Given the description of an element on the screen output the (x, y) to click on. 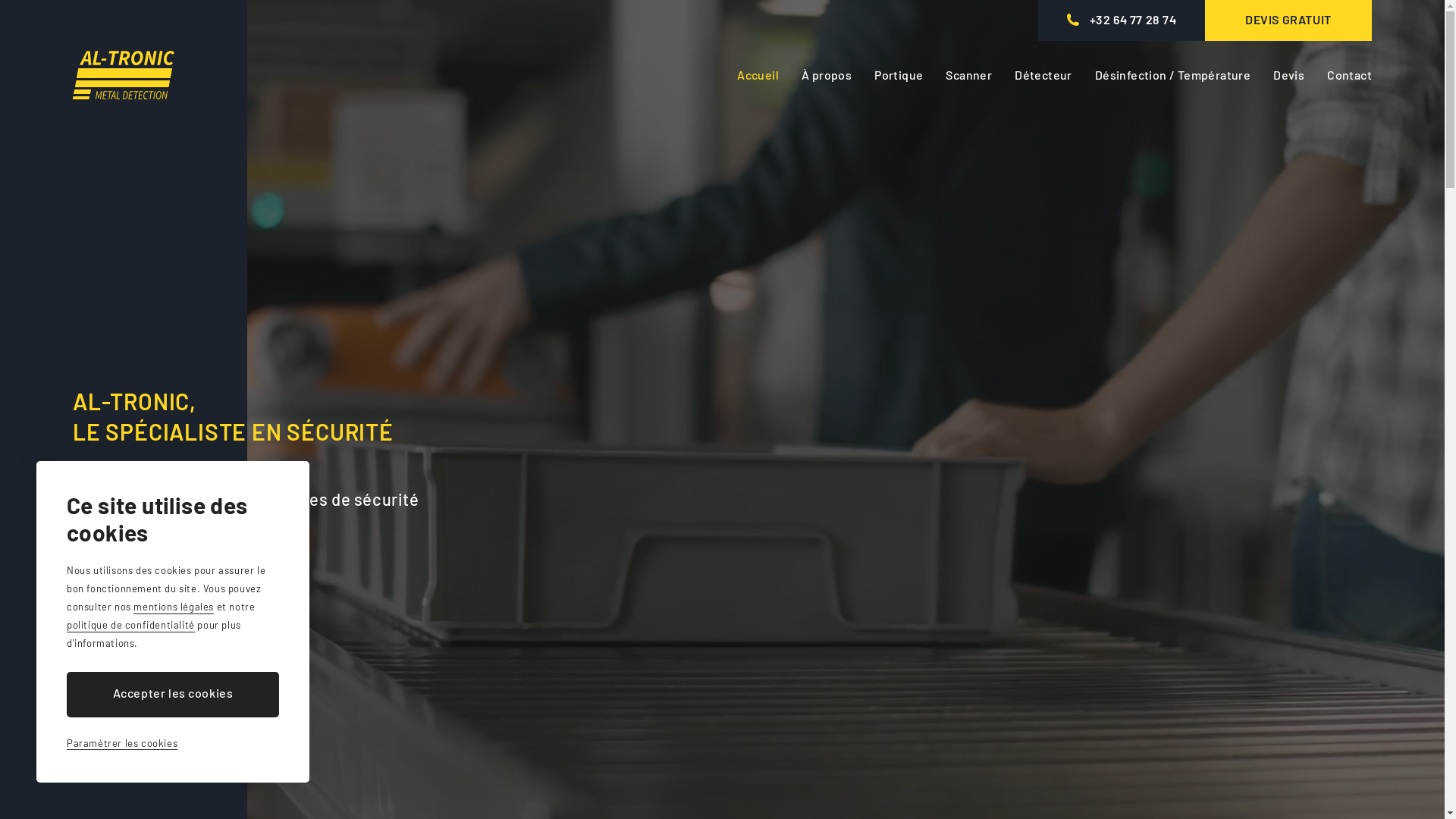
Devis Element type: text (1288, 74)
DEVIS GRATUIT Element type: text (1287, 20)
+32 64 77 28 74 Element type: text (1121, 20)
Contact Element type: text (1349, 74)
Al-Tronic Element type: hover (123, 74)
Scanner Element type: text (968, 74)
Portique Element type: text (898, 74)
Accueil Element type: text (757, 74)
